Given the description of an element on the screen output the (x, y) to click on. 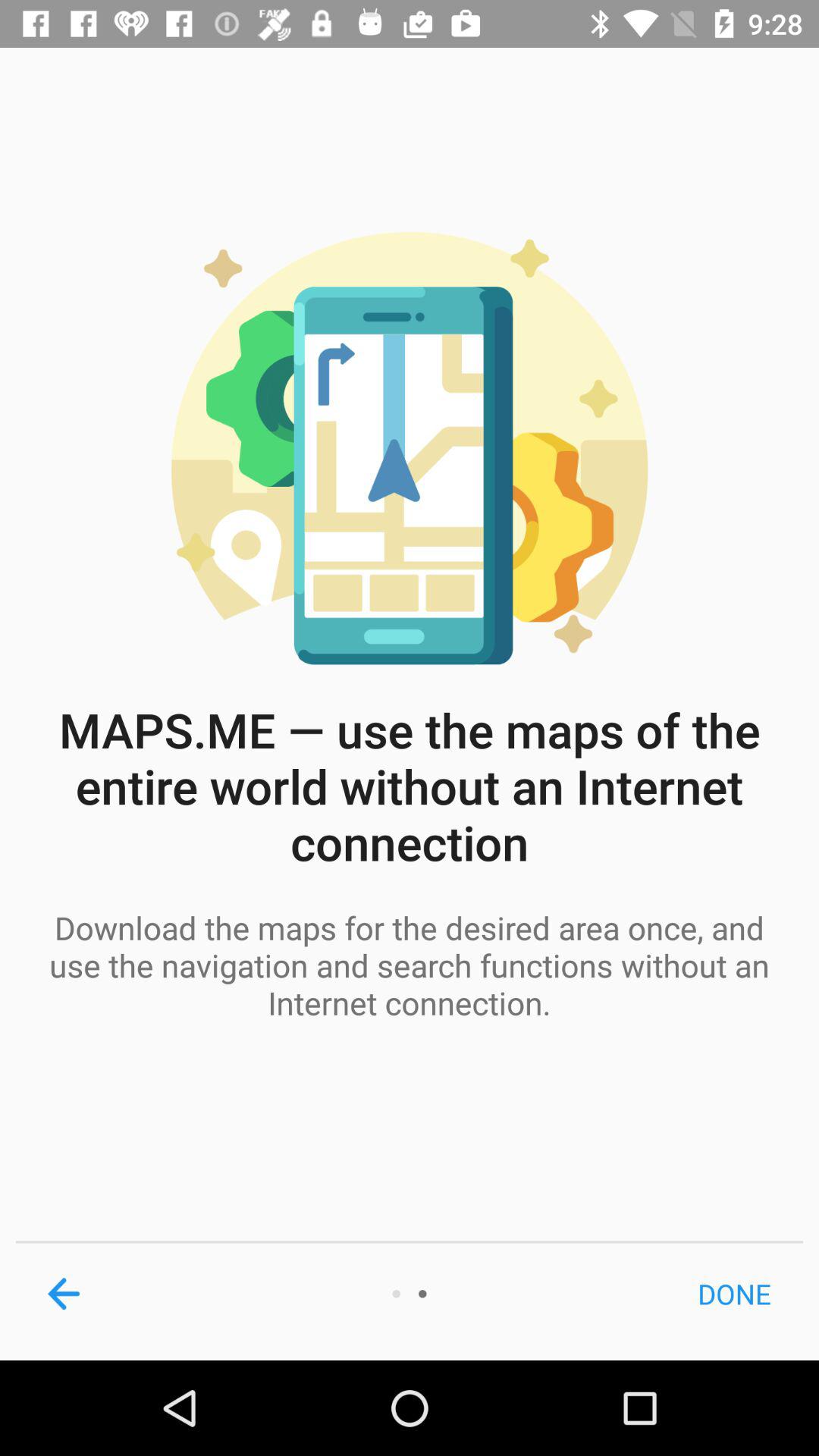
choose item at the bottom right corner (734, 1293)
